Given the description of an element on the screen output the (x, y) to click on. 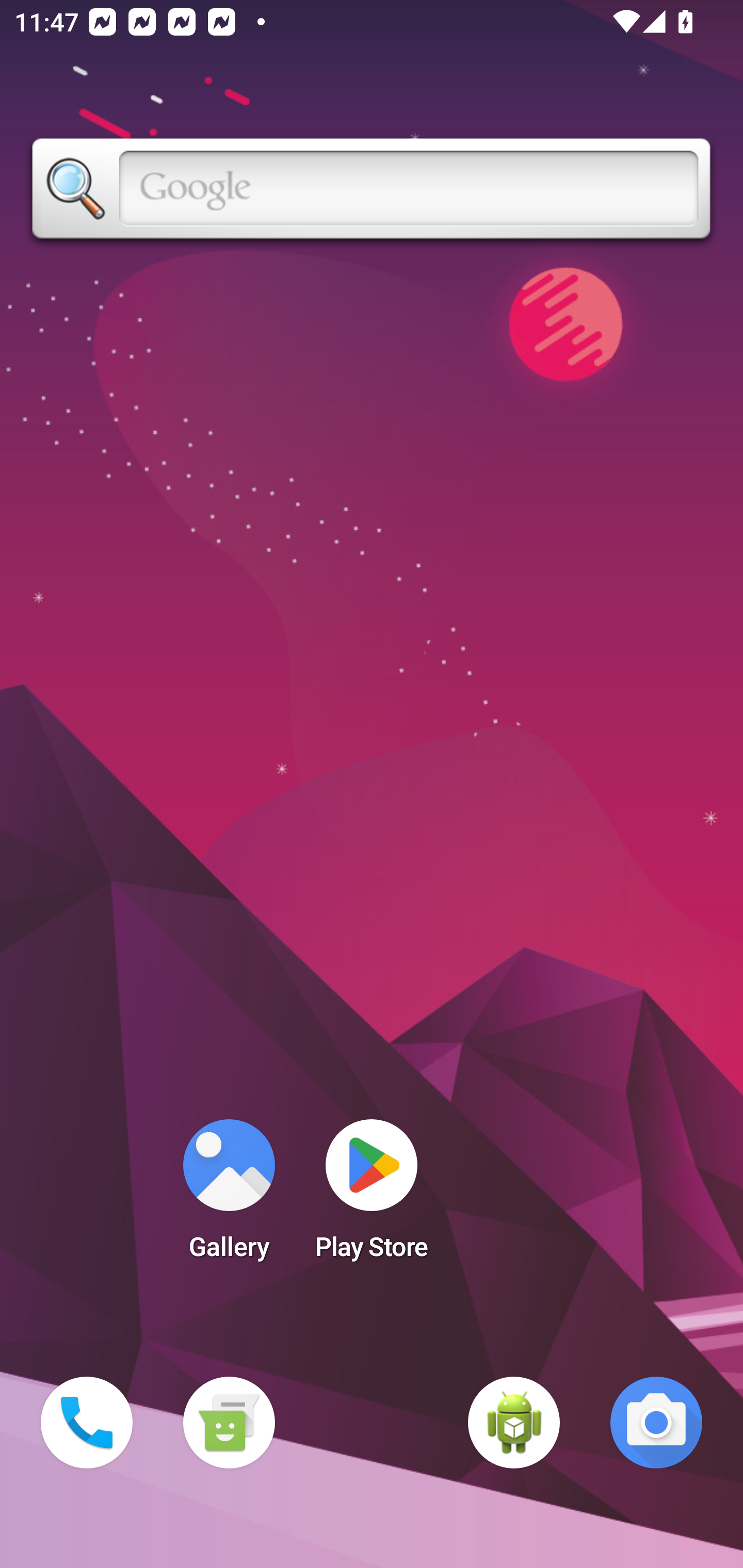
Gallery (228, 1195)
Play Store (371, 1195)
Phone (86, 1422)
Messaging (228, 1422)
WebView Browser Tester (513, 1422)
Camera (656, 1422)
